Given the description of an element on the screen output the (x, y) to click on. 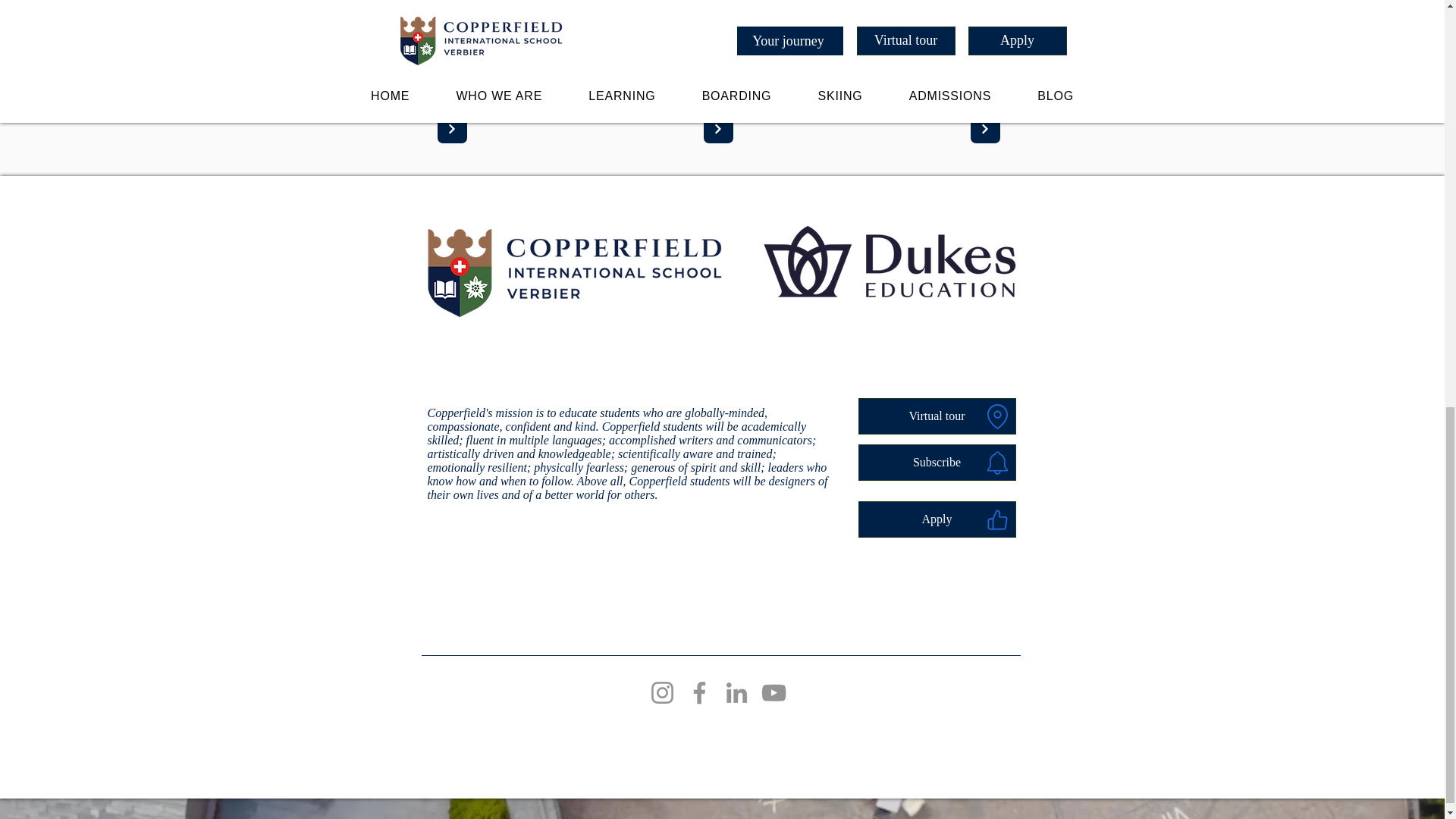
Virtual tour (937, 416)
Apply (937, 519)
Subscribe (937, 462)
